Given the description of an element on the screen output the (x, y) to click on. 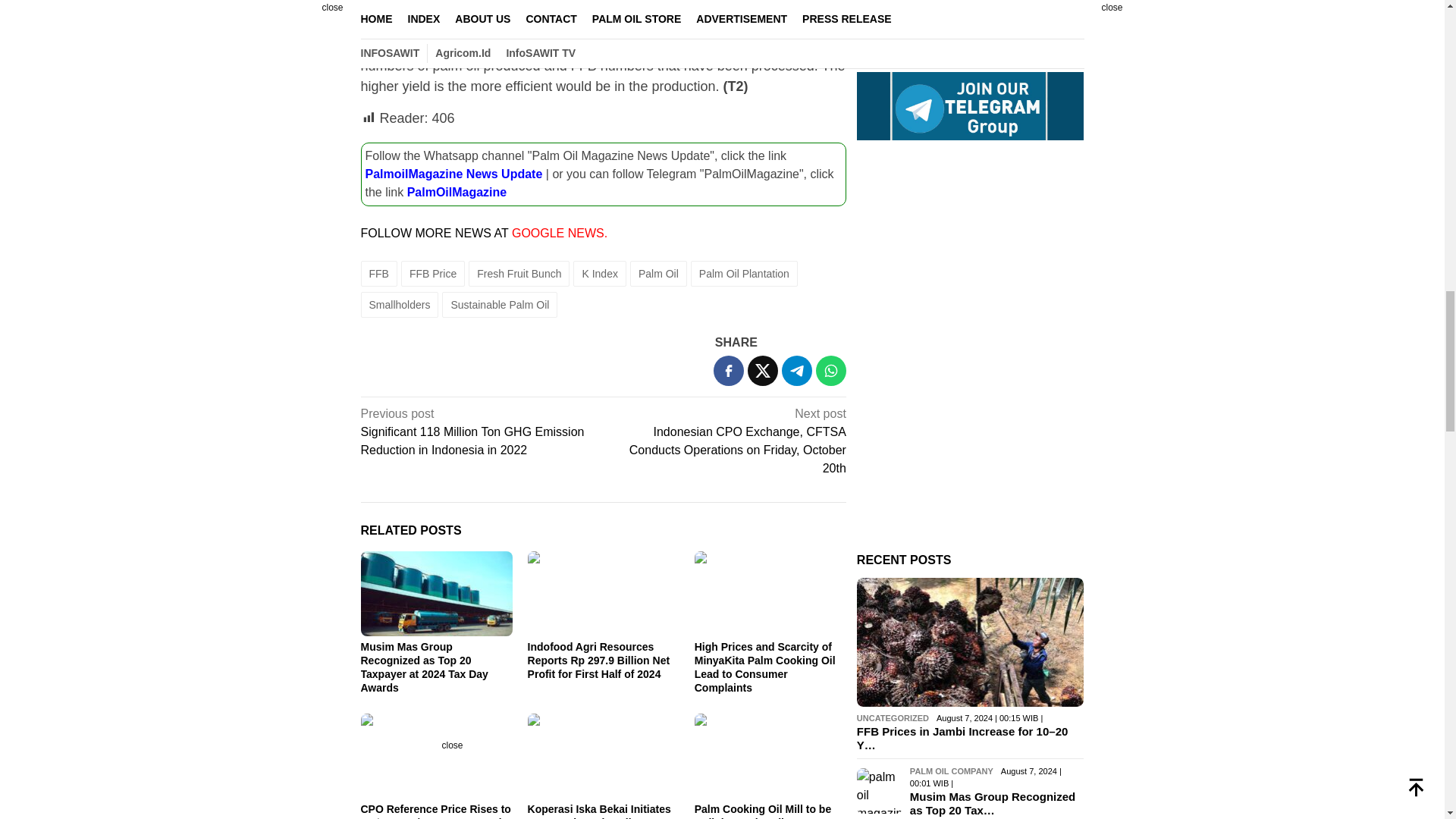
FOLLOW MORE NEWS AT (436, 232)
PalmOilMagazine (456, 191)
PalmoilMagazine News Update (454, 173)
